Given the description of an element on the screen output the (x, y) to click on. 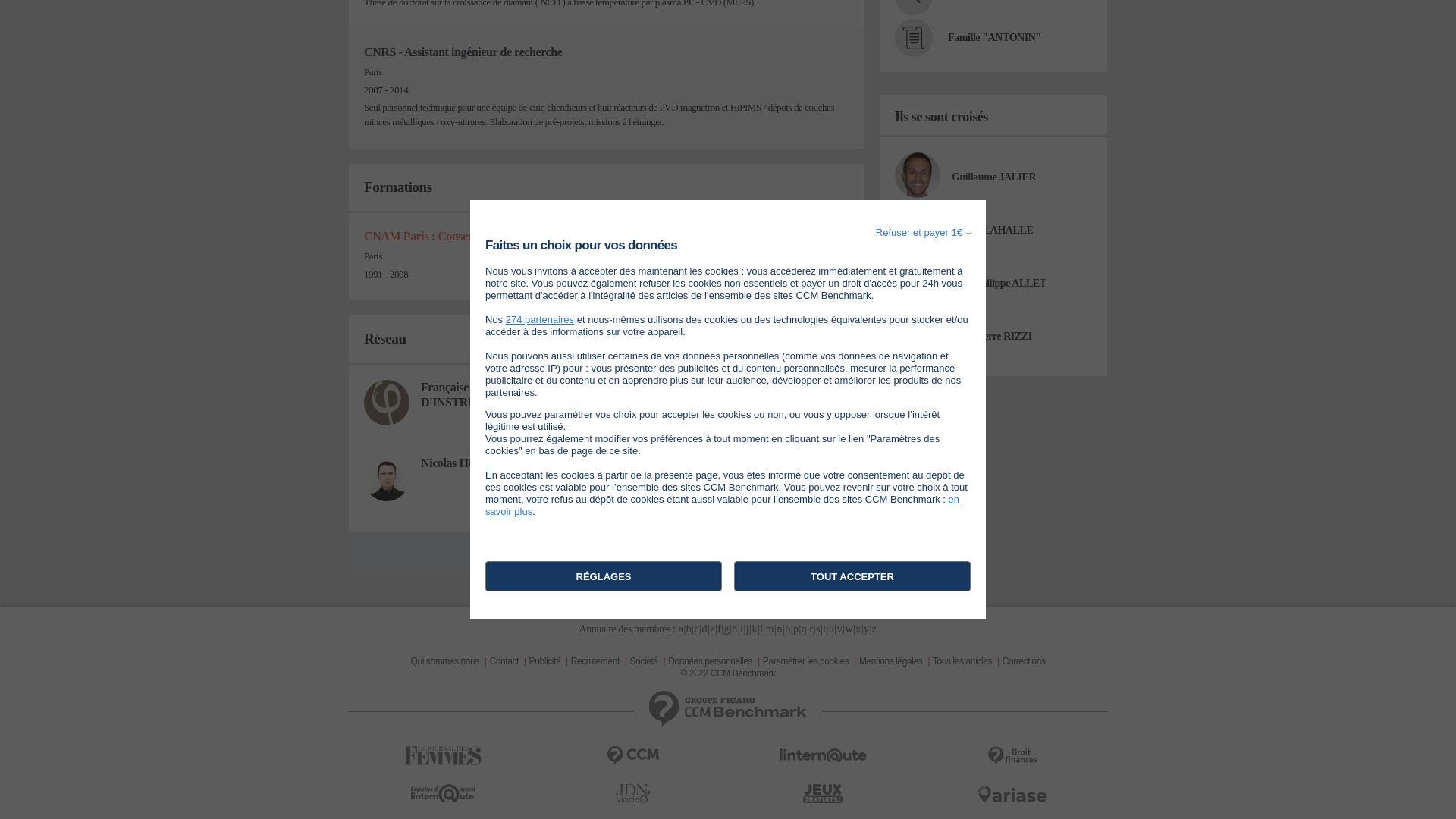
Nom ANTONIN (914, 7)
Nom ANTONIN (988, 0)
